Given the description of an element on the screen output the (x, y) to click on. 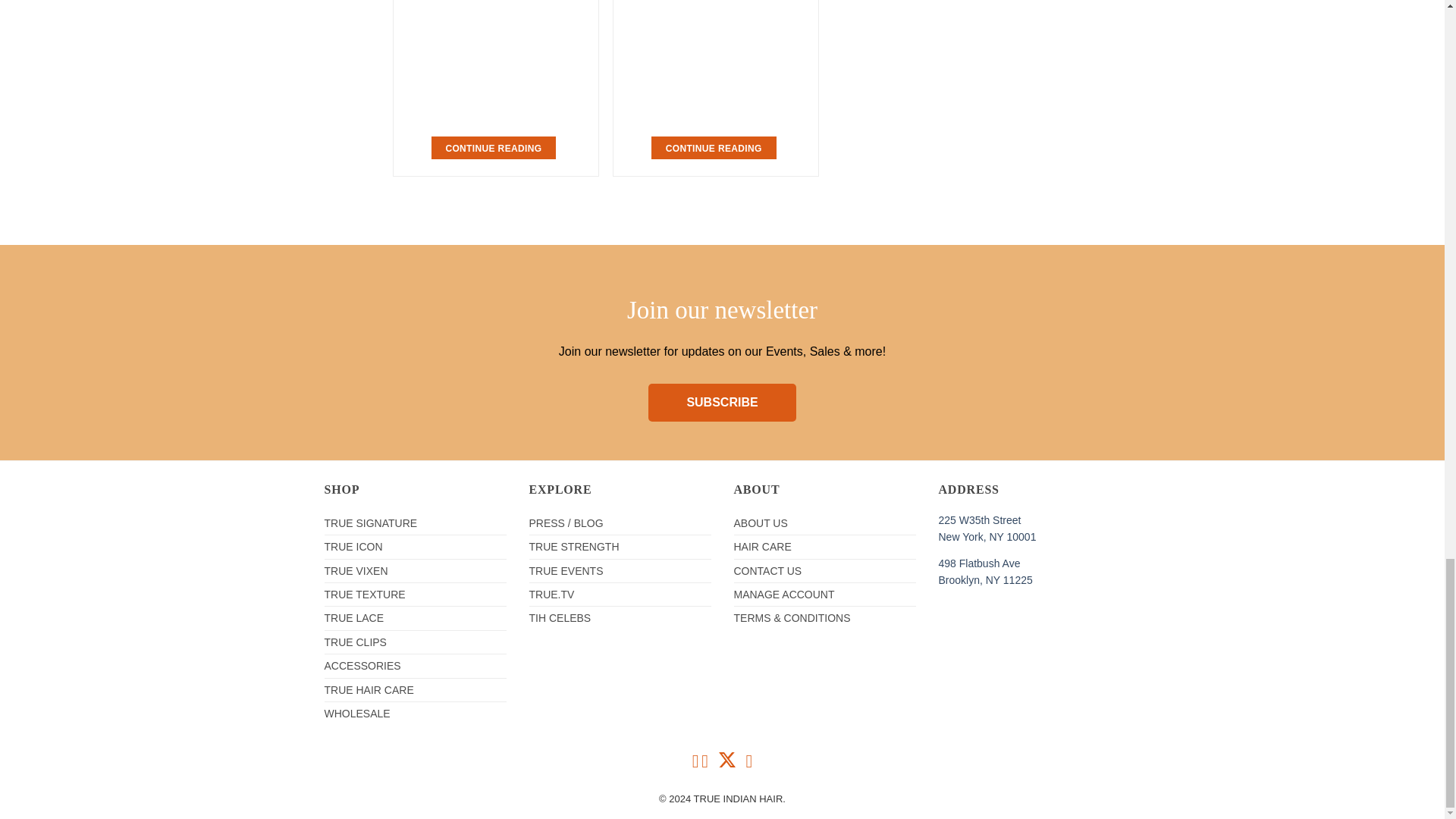
Follow on Twitter (726, 763)
